Given the description of an element on the screen output the (x, y) to click on. 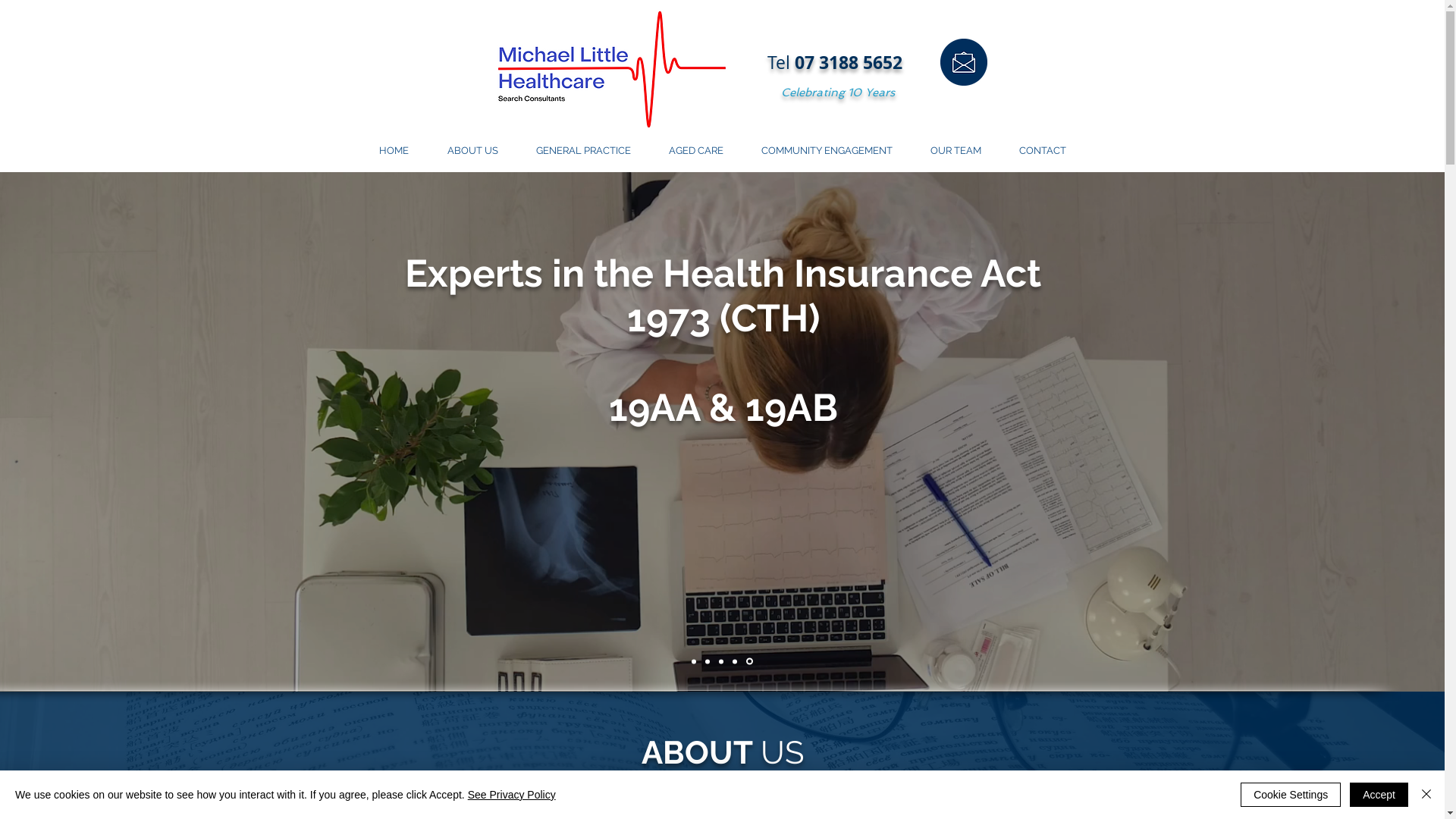
AGED CARE Element type: text (695, 150)
COMMUNITY ENGAGEMENT Element type: text (825, 150)
ABOUT US Element type: text (471, 150)
GENERAL PRACTICE Element type: text (583, 150)
CONTACT Element type: text (1041, 150)
Accept Element type: text (1378, 794)
Seach Consultants.png Element type: hover (611, 69)
See Privacy Policy Element type: text (511, 794)
HOME Element type: text (393, 150)
OUR TEAM Element type: text (955, 150)
Cookie Settings Element type: text (1290, 794)
